Given the description of an element on the screen output the (x, y) to click on. 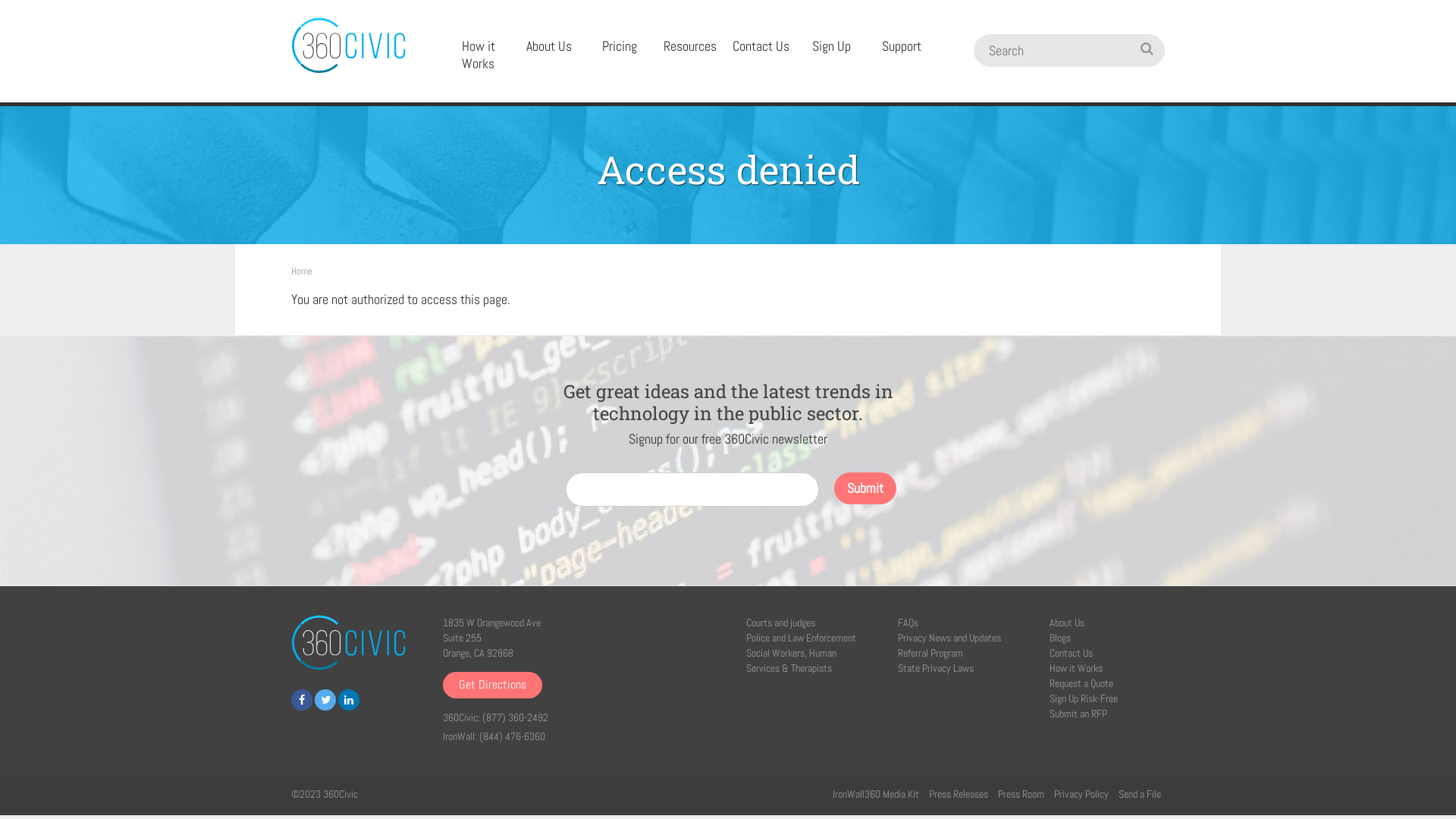
Send a File Element type: text (1139, 793)
(844) 476-6360 Element type: text (512, 736)
Referral Program Element type: text (930, 652)
Skip to main content Element type: text (0, 0)
Sign Up Element type: text (831, 46)
Police and Law Enforcement Element type: text (801, 637)
(877) 360-2492 Element type: text (515, 717)
Courts and judges Element type: text (780, 622)
About Us Element type: text (548, 46)
Request a Quote Element type: text (1081, 683)
State Privacy Laws Element type: text (935, 667)
Social Workers, Human Services & Therapists Element type: text (791, 660)
Press Room Element type: text (1020, 793)
Contact Us Element type: text (1070, 652)
Home Element type: text (301, 271)
Submit Element type: text (865, 488)
Contact Us Element type: text (760, 46)
Support Element type: text (901, 46)
How it Works Element type: text (1075, 667)
Submit an RFP Element type: text (1078, 713)
Press Releases Element type: text (958, 793)
Privacy News and Updates Element type: text (949, 637)
About Us Element type: text (1066, 622)
Blogs Element type: text (1059, 637)
How it Works Element type: text (477, 55)
Get Directions Element type: text (492, 684)
Search Element type: hover (1043, 50)
FAQs Element type: text (907, 622)
IronWall360 Media Kit Element type: text (875, 793)
Sign Up Risk-Free Element type: text (1083, 698)
Privacy Policy Element type: text (1081, 793)
